Given the description of an element on the screen output the (x, y) to click on. 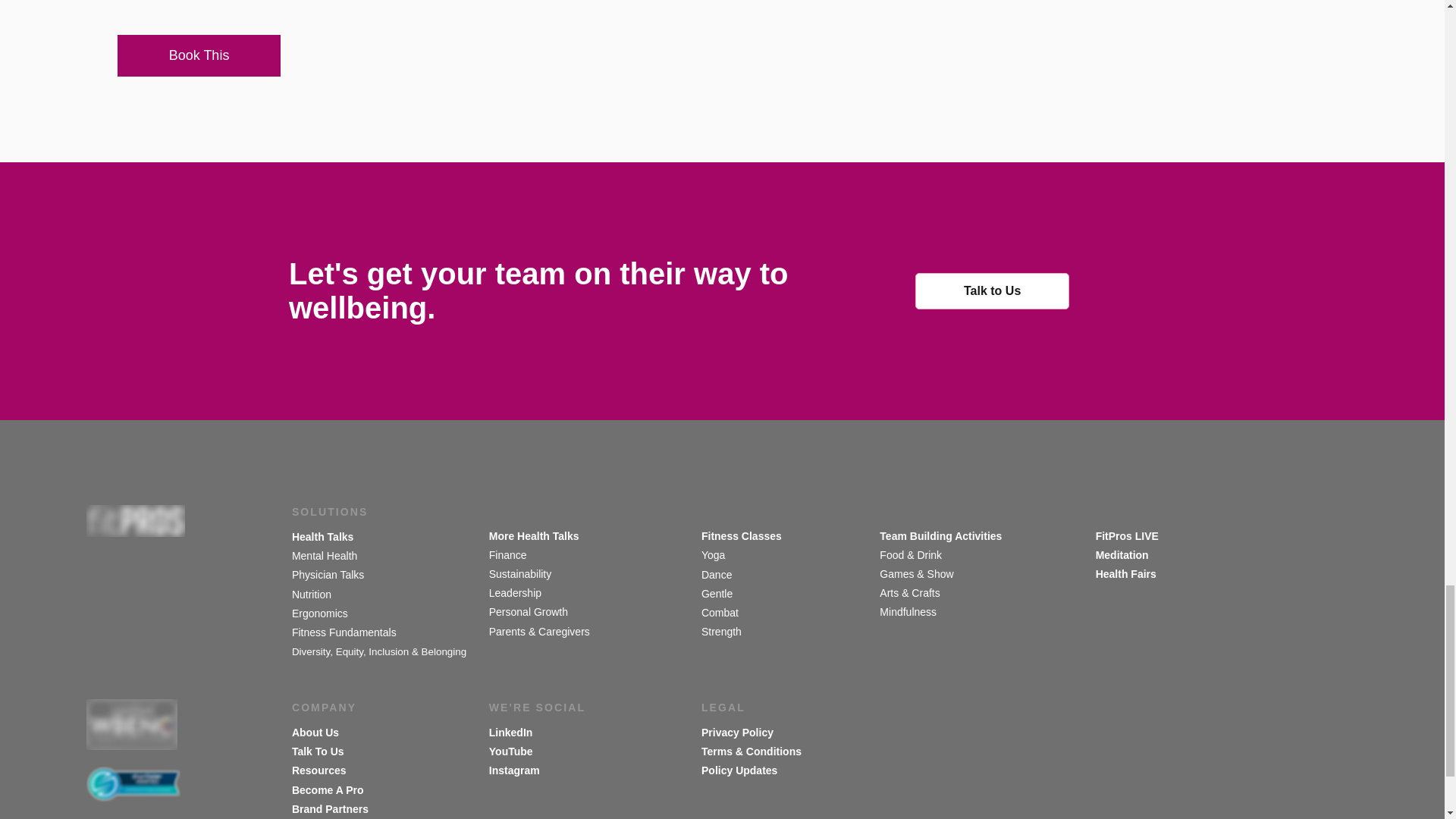
Physician Talks (329, 574)
Dance (718, 574)
Health Fairs (1126, 573)
More Health Talks (534, 535)
Strength (722, 631)
Finance (508, 554)
Personal Growth (528, 612)
Talk to Us (991, 290)
Mental Health (324, 555)
Sustainability (521, 573)
